Given the description of an element on the screen output the (x, y) to click on. 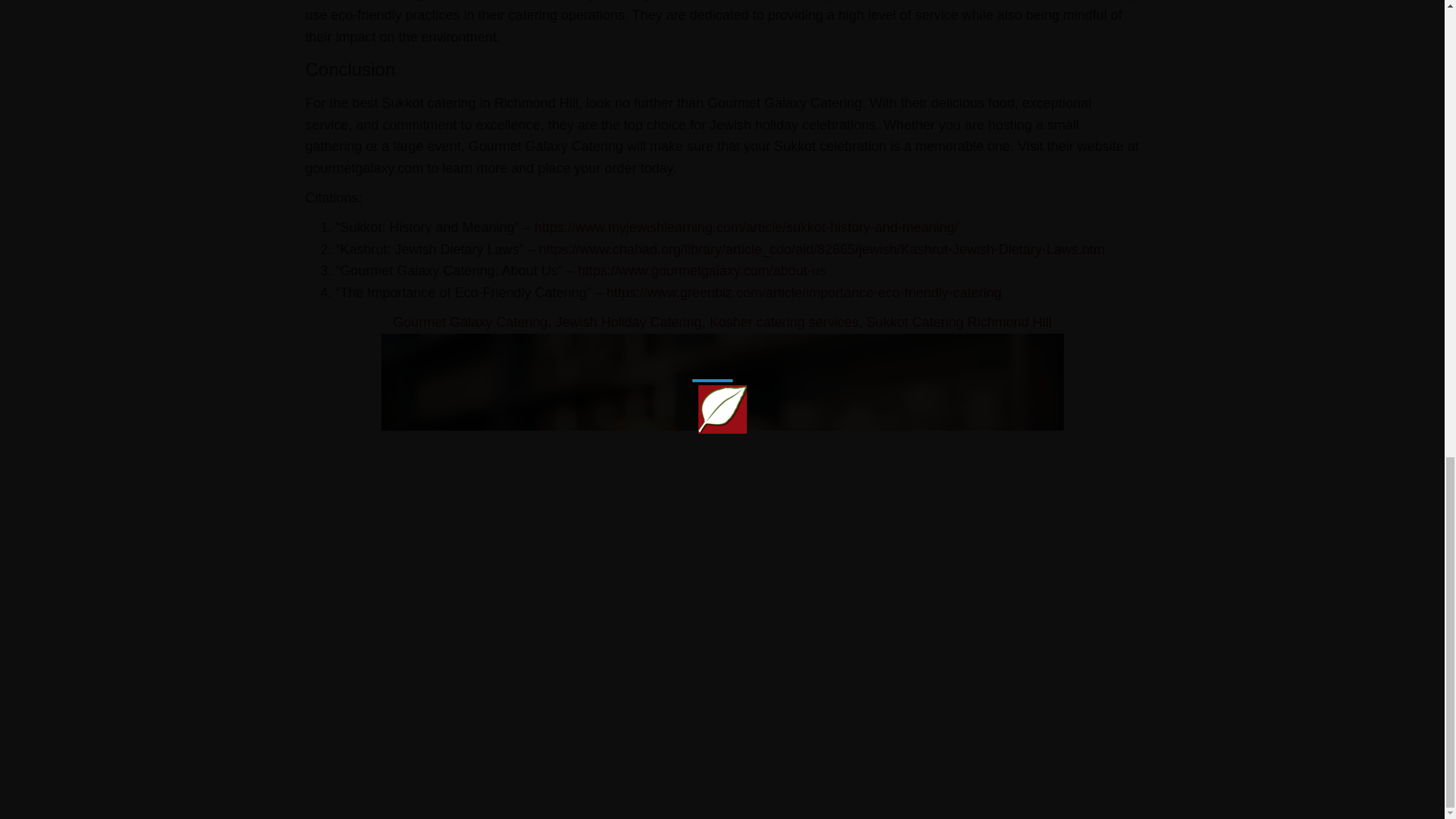
Jewish Holiday Catering (627, 322)
Kosher catering services (784, 322)
Sukkot Catering Richmond Hill (958, 322)
Gourmet Galaxy Catering (470, 322)
